Given the description of an element on the screen output the (x, y) to click on. 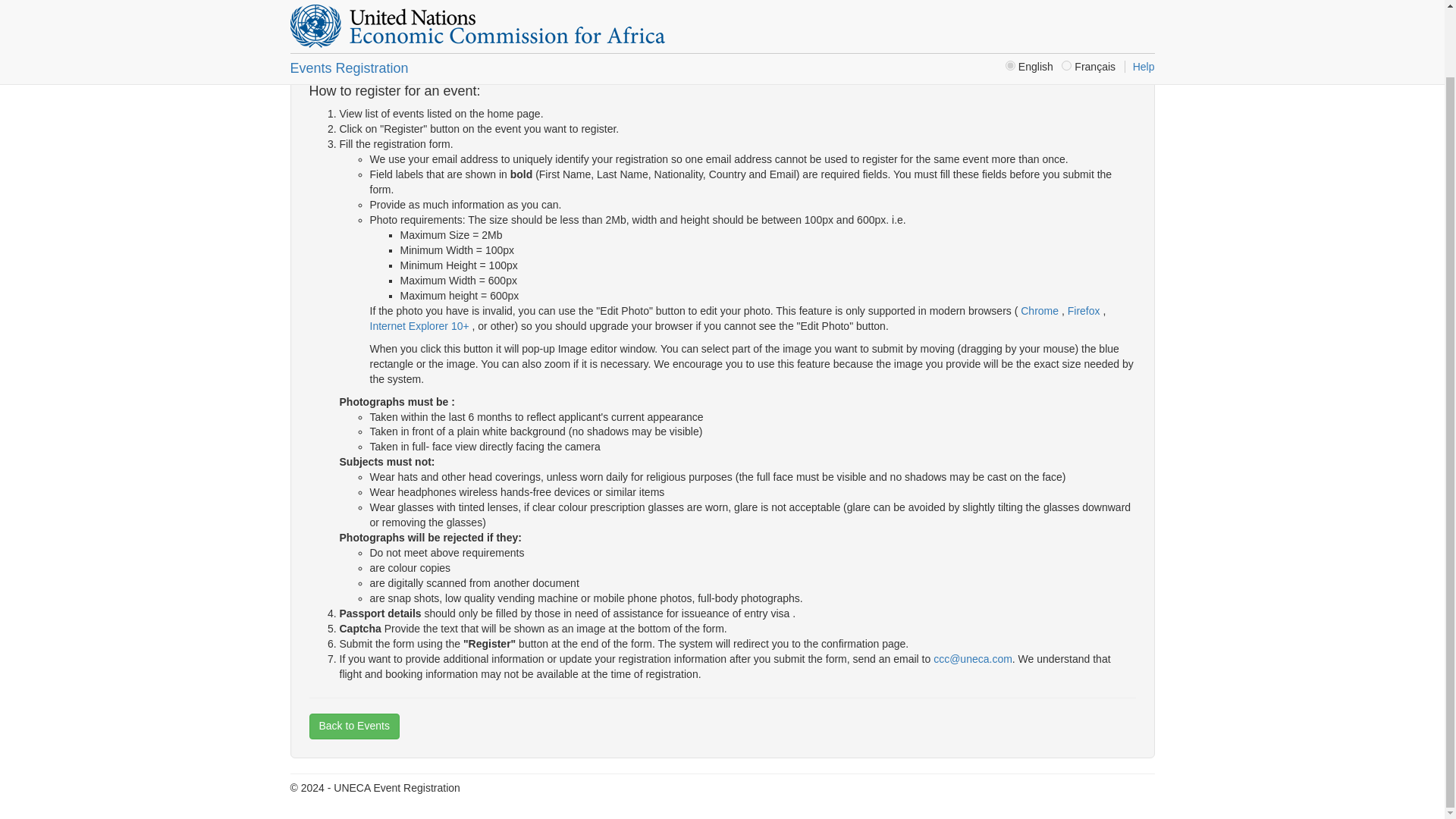
Events Registration (348, 0)
Chrome (1039, 310)
Back to Events (353, 726)
Firefox (1085, 310)
